Given the description of an element on the screen output the (x, y) to click on. 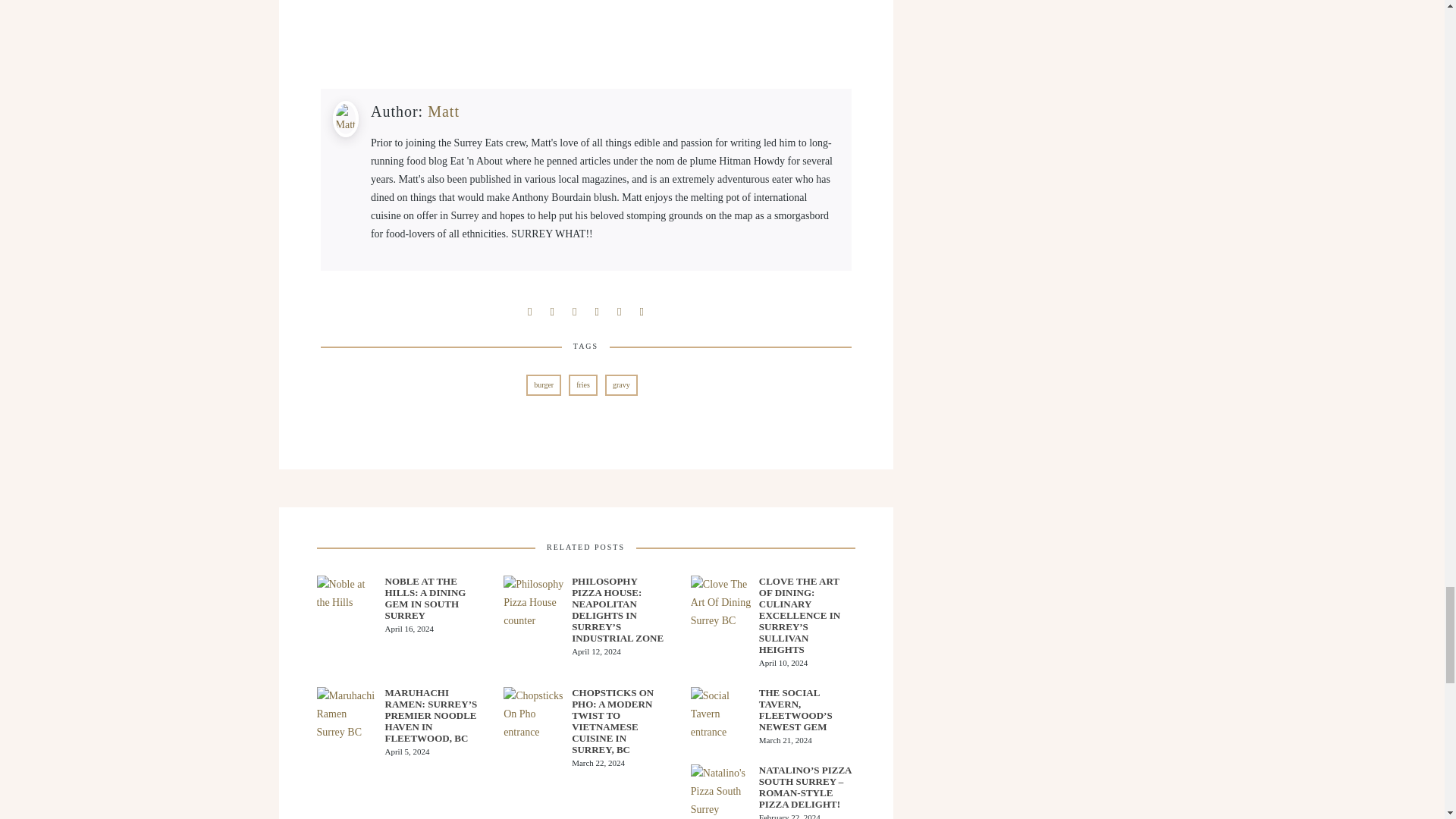
Noble at The Hills: A Dining Gem in South Surrey (347, 598)
Noble at The Hills: A Dining Gem in South Surrey (433, 597)
